Given the description of an element on the screen output the (x, y) to click on. 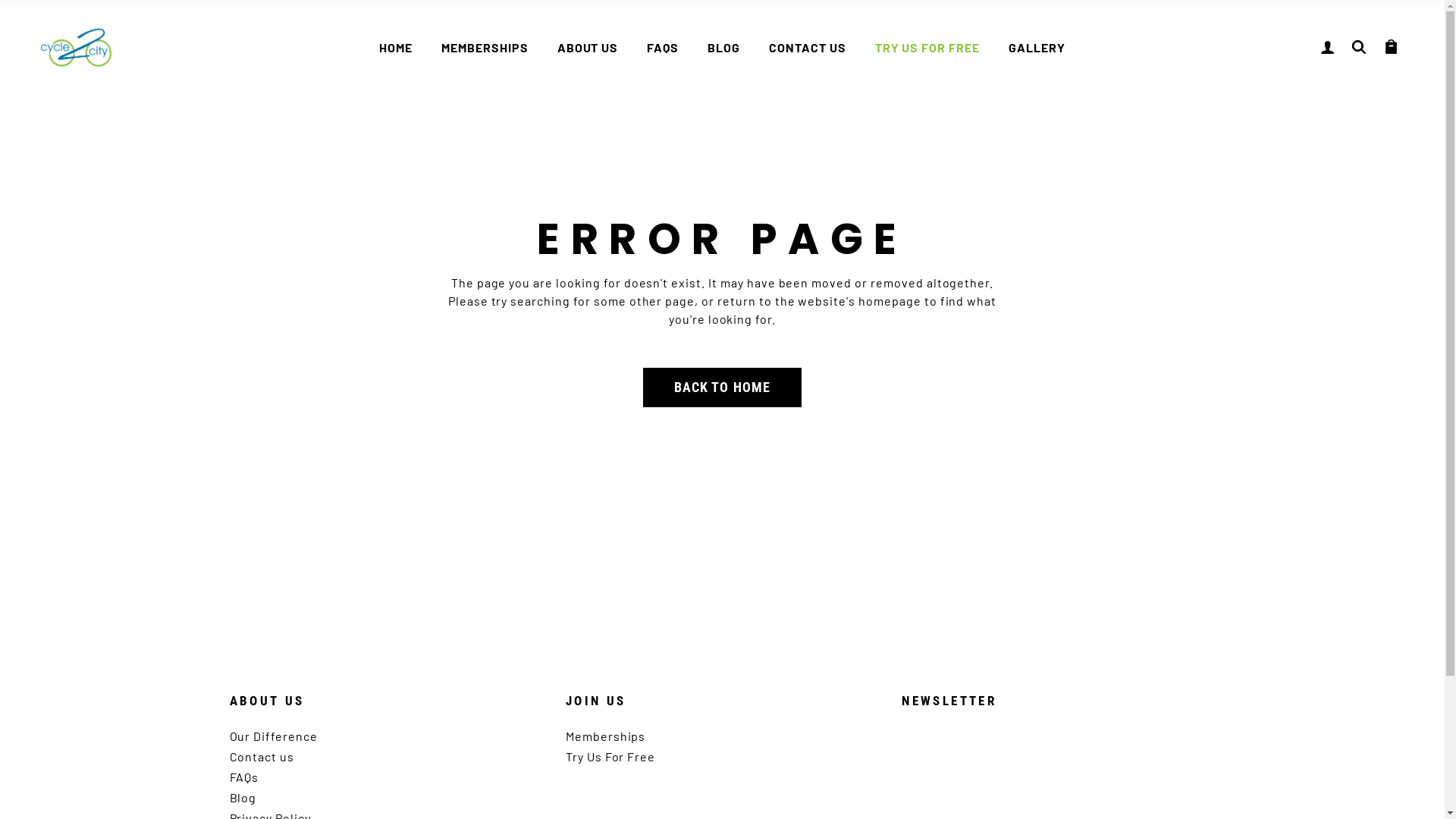
BACK TO HOME Element type: text (722, 387)
GALLERY Element type: text (1036, 47)
FAQS Element type: text (662, 47)
CONTACT US Element type: text (807, 47)
Our Difference Element type: text (272, 735)
HOME Element type: text (395, 47)
TRY US FOR FREE Element type: text (927, 47)
Memberships Element type: text (605, 735)
ABOUT US Element type: text (587, 47)
MEMBERSHIPS Element type: text (484, 47)
BLOG Element type: text (723, 47)
Contact us Element type: text (261, 756)
FAQs Element type: text (243, 776)
Try Us For Free Element type: text (610, 756)
Blog Element type: text (242, 797)
